Given the description of an element on the screen output the (x, y) to click on. 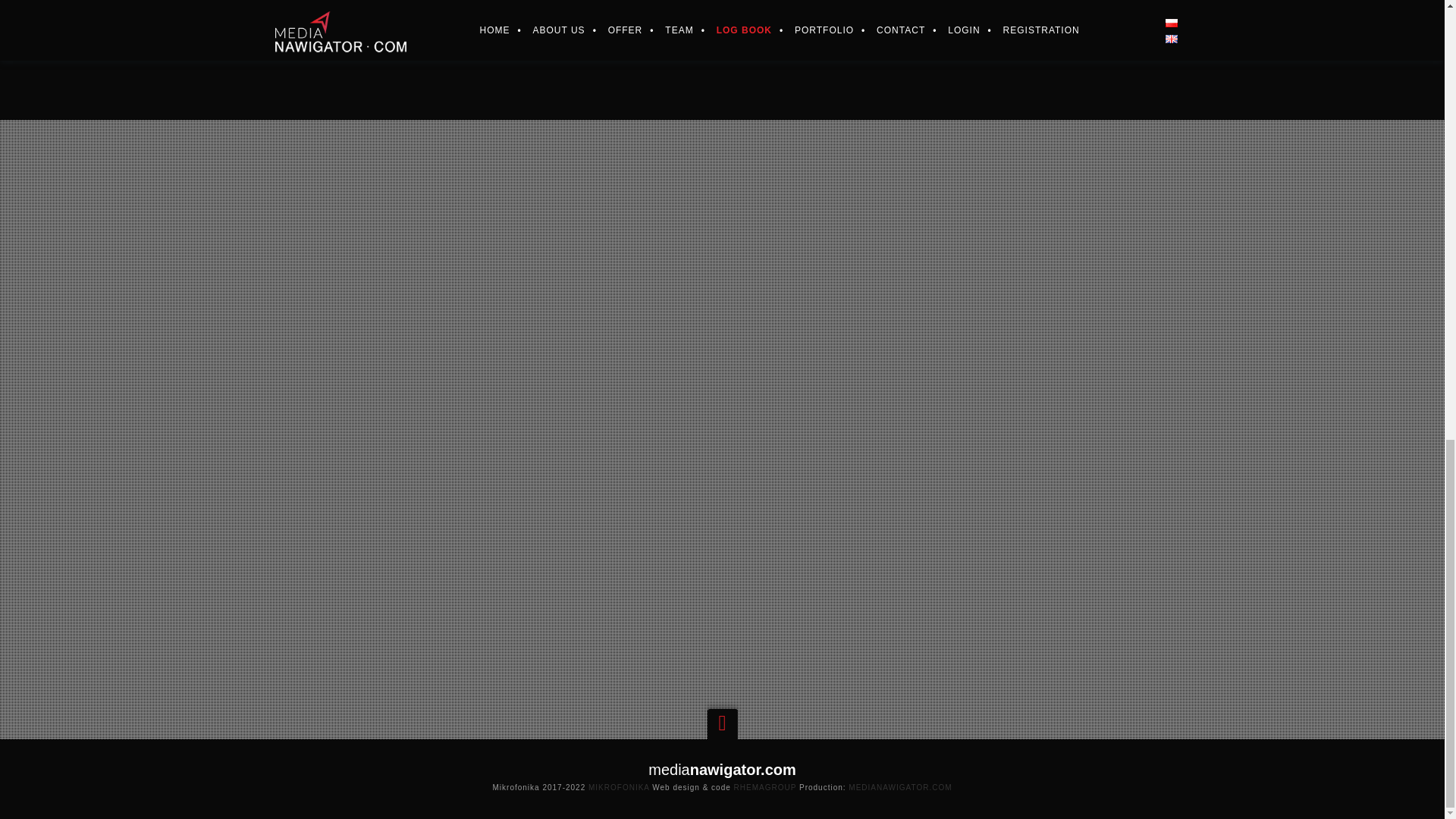
MIKROFONIKA (618, 786)
RHEMAGROUP (764, 786)
MEDIANAWIGATOR.COM (900, 786)
Send (727, 566)
